Given the description of an element on the screen output the (x, y) to click on. 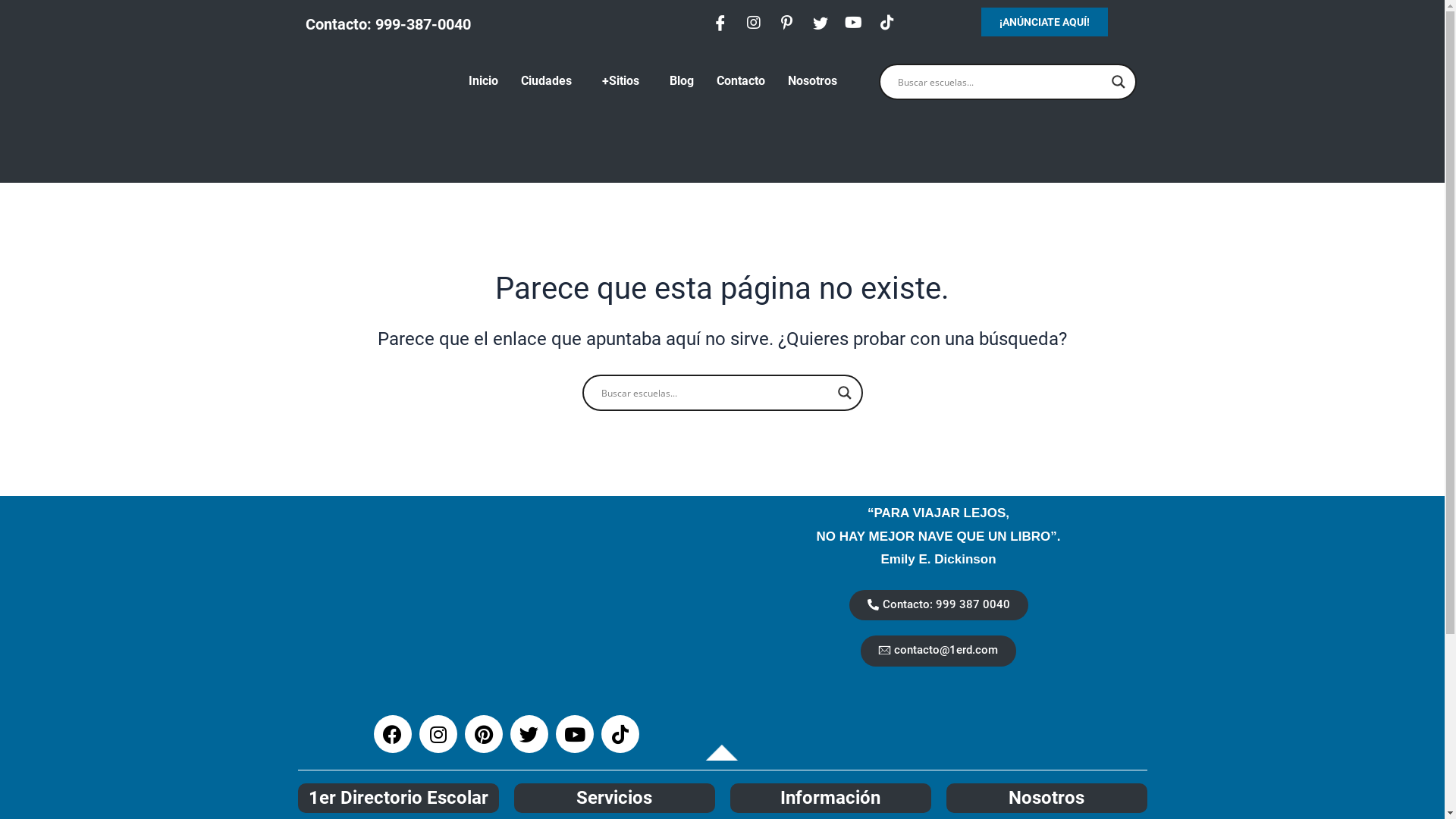
Nosotros Element type: text (812, 80)
Instagram Element type: text (437, 734)
Inicio Element type: text (483, 80)
Contacto Element type: text (740, 80)
Tiktok Element type: text (619, 734)
+Sitios Element type: text (624, 80)
Facebook Element type: text (392, 734)
Contacto: 999-387-0040 Element type: text (387, 24)
Twitter Element type: text (528, 734)
Ciudades Element type: text (549, 80)
Pinterest Element type: text (483, 734)
Contacto: 999 387 0040 Element type: text (938, 604)
contacto@1erd.com Element type: text (938, 650)
Blog Element type: text (681, 80)
Youtube Element type: text (574, 734)
